Given the description of an element on the screen output the (x, y) to click on. 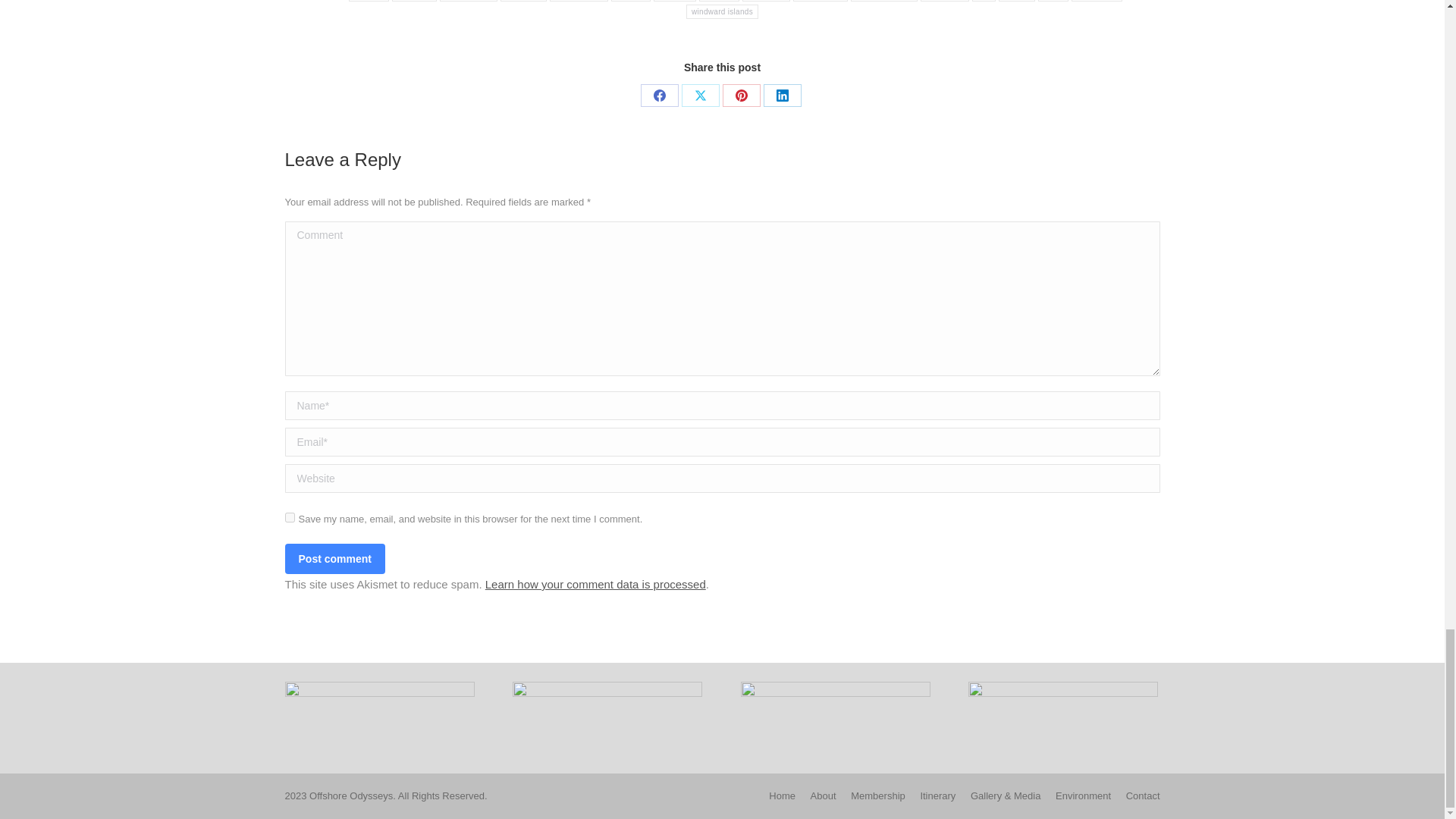
X (700, 95)
yes (290, 517)
Pinterest (741, 95)
LinkedIn (781, 95)
Facebook (659, 95)
